Given the description of an element on the screen output the (x, y) to click on. 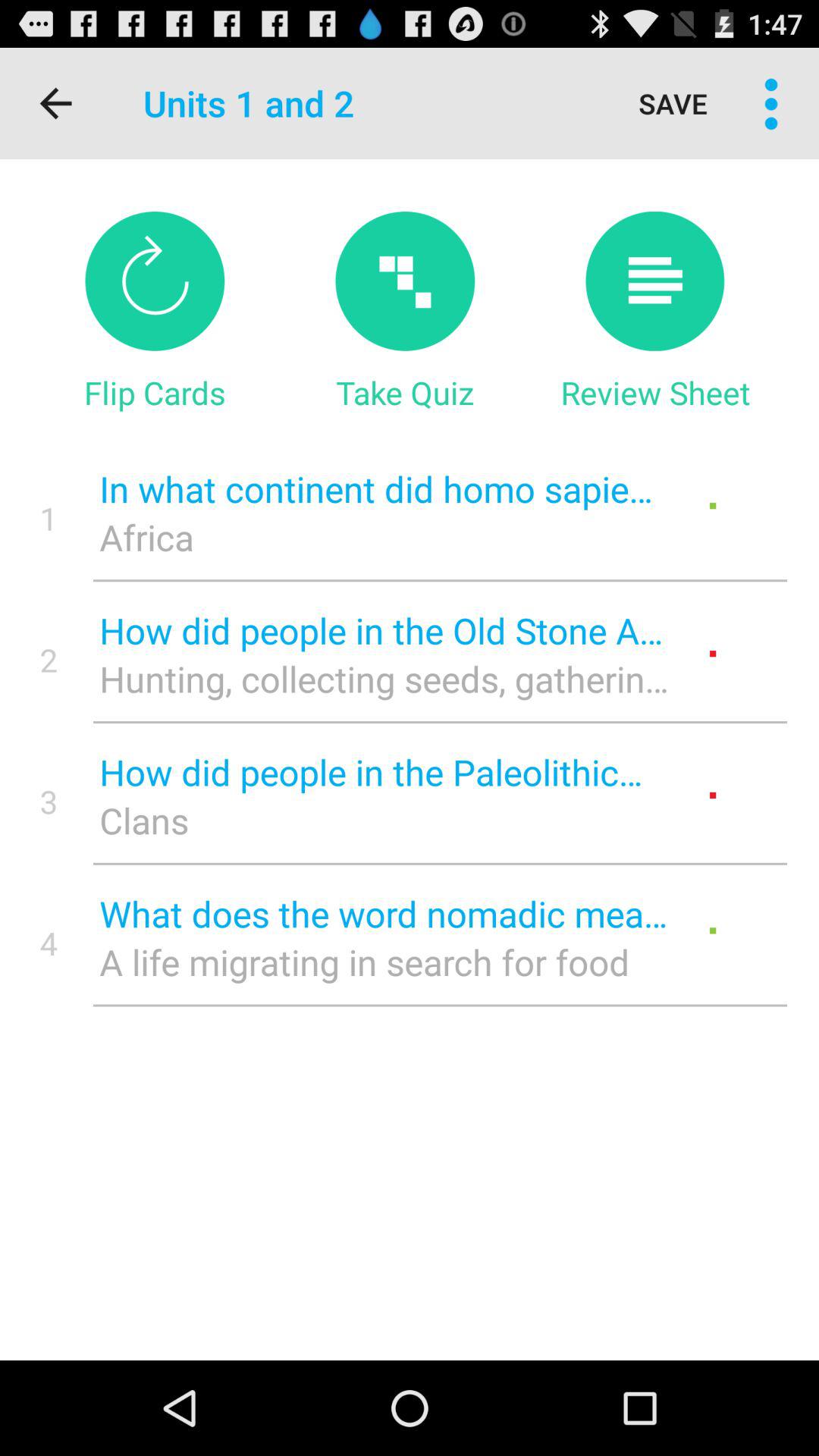
click the item to the right of 1 (384, 537)
